Given the description of an element on the screen output the (x, y) to click on. 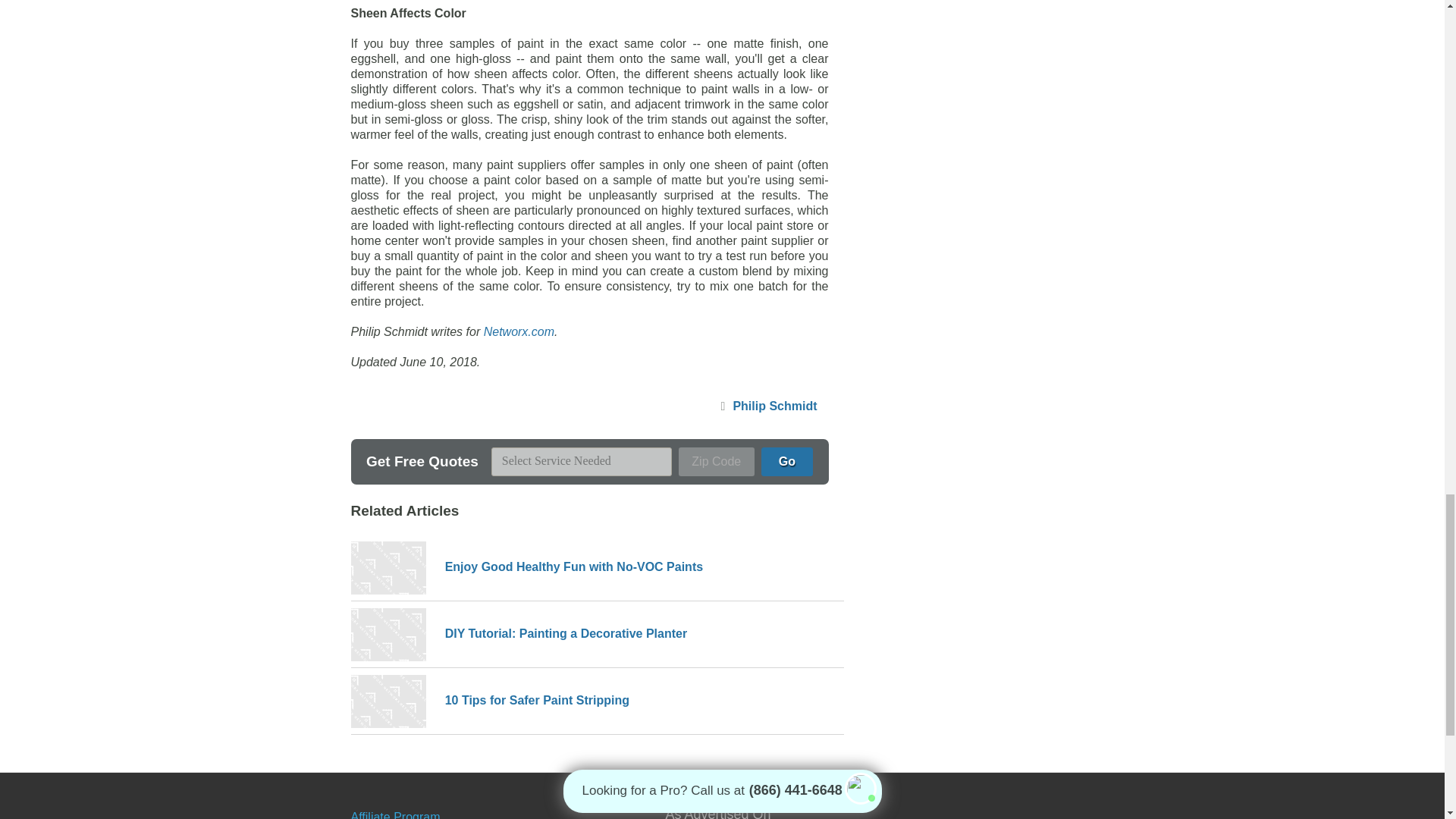
Go (786, 461)
